Given the description of an element on the screen output the (x, y) to click on. 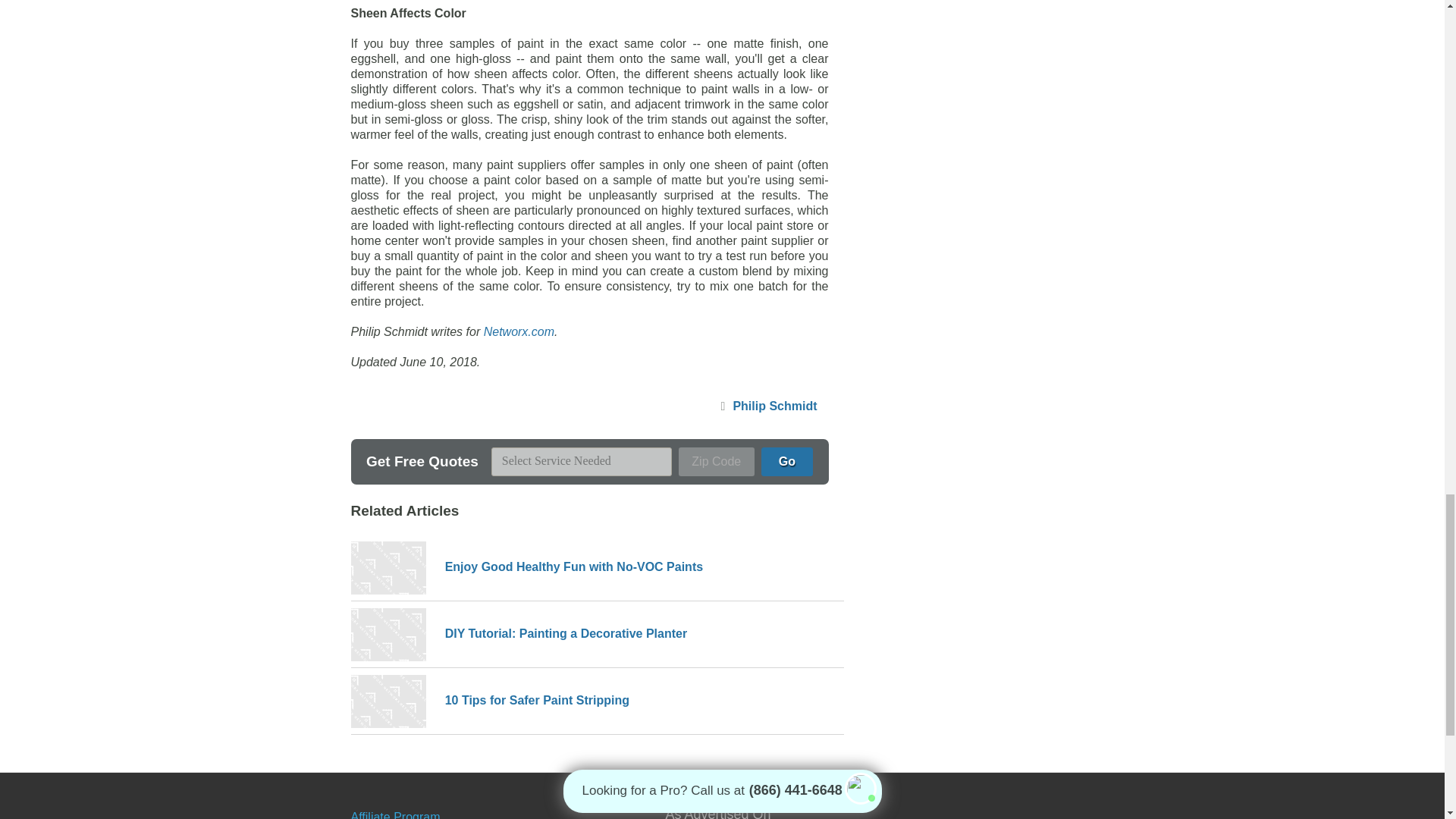
Go (786, 461)
